Given the description of an element on the screen output the (x, y) to click on. 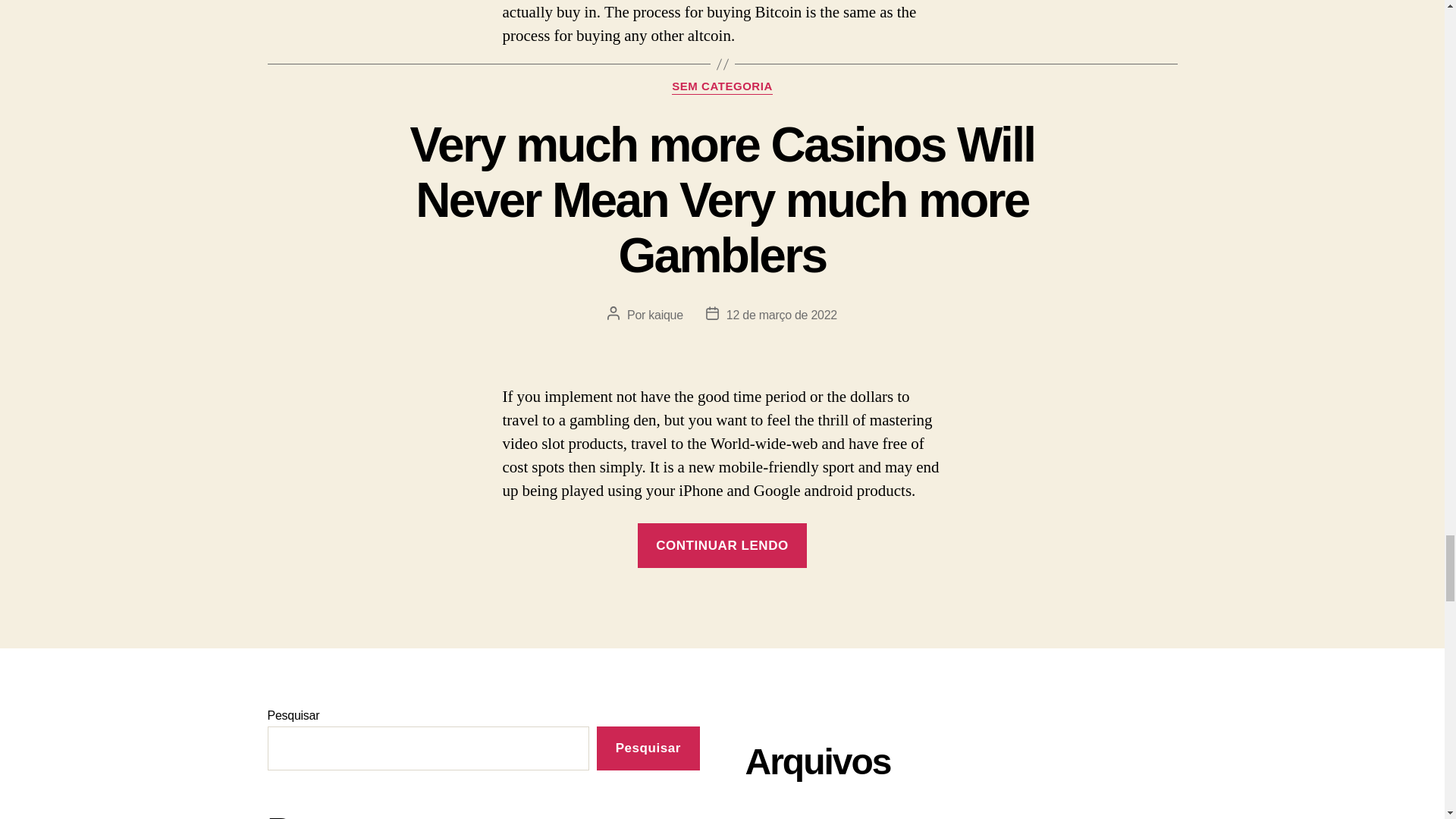
Pesquisar (647, 748)
kaique (664, 314)
CONTINUAR LENDO (722, 544)
SEM CATEGORIA (722, 87)
